Given the description of an element on the screen output the (x, y) to click on. 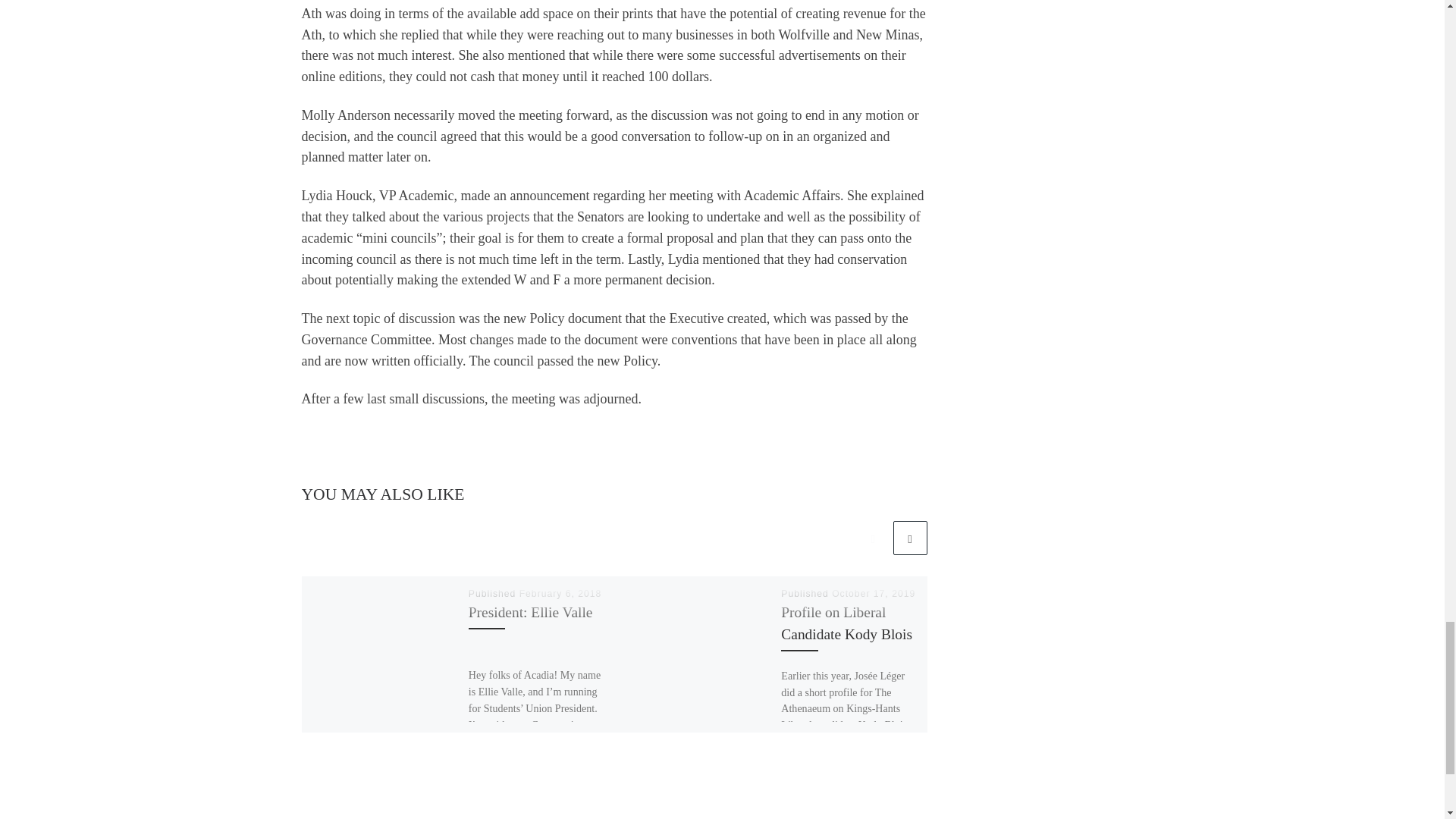
Next related articles (910, 537)
Previous related articles (872, 537)
